Given the description of an element on the screen output the (x, y) to click on. 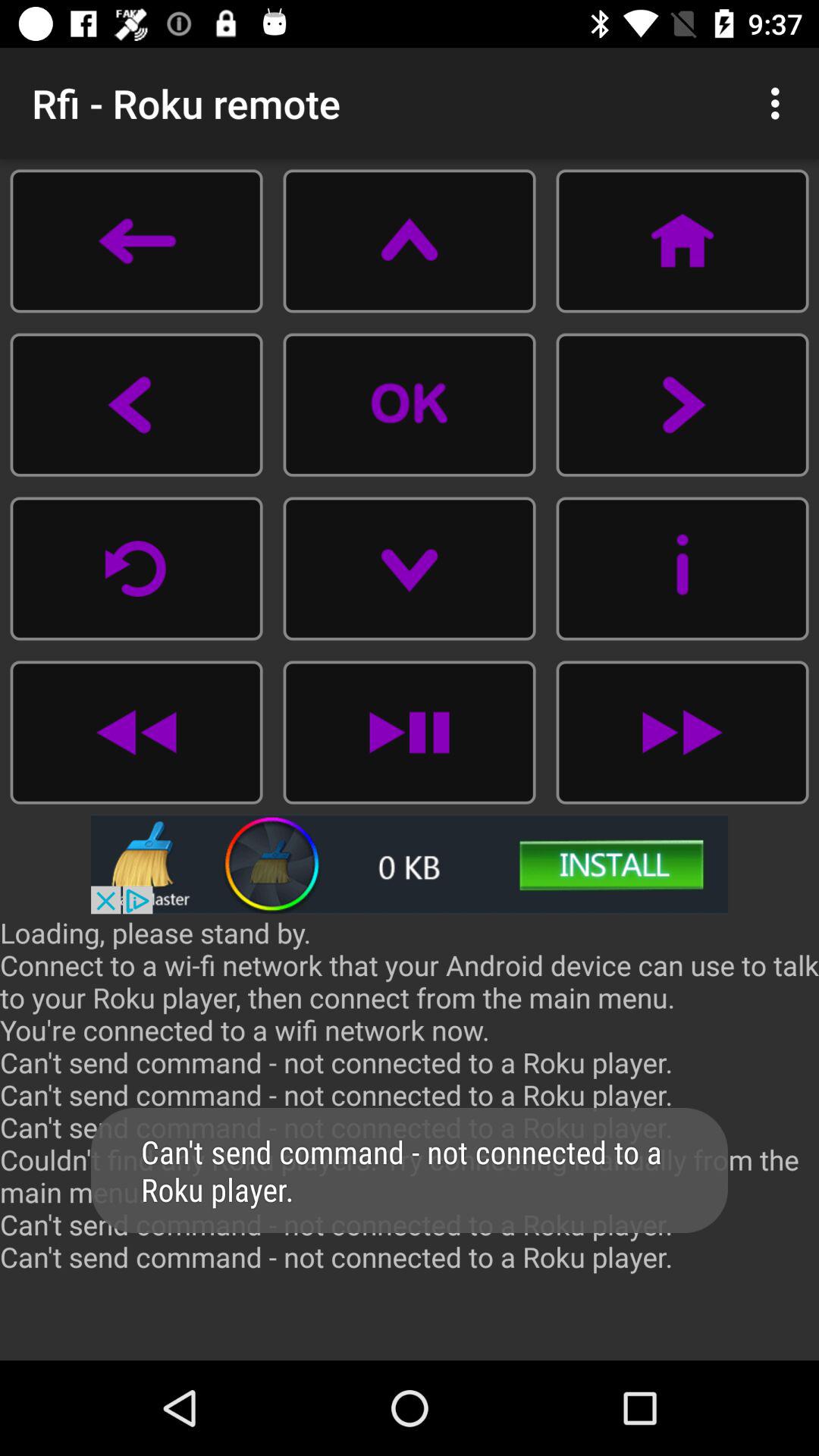
advertisement (409, 863)
